Given the description of an element on the screen output the (x, y) to click on. 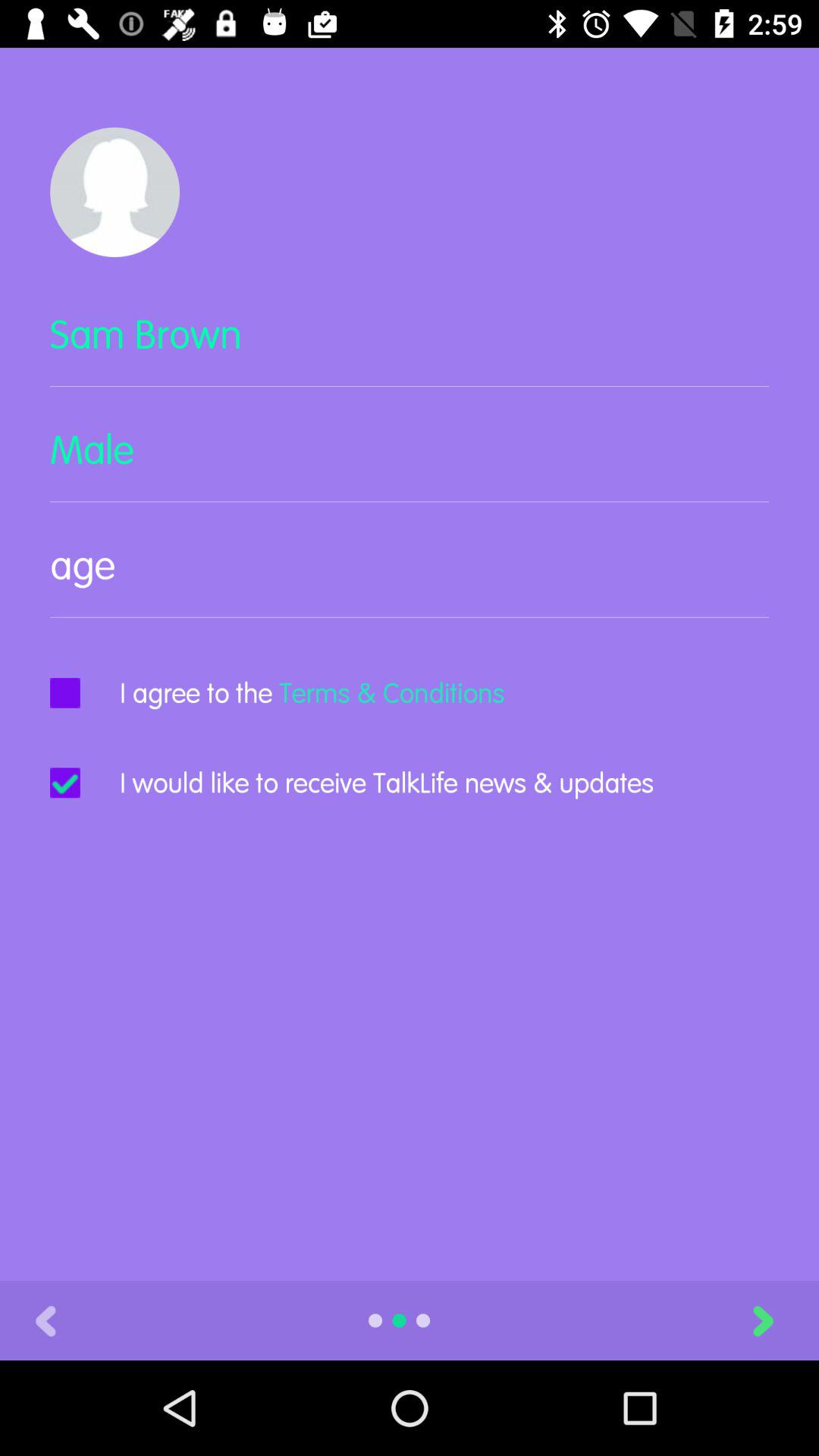
show profile photo (114, 192)
